Given the description of an element on the screen output the (x, y) to click on. 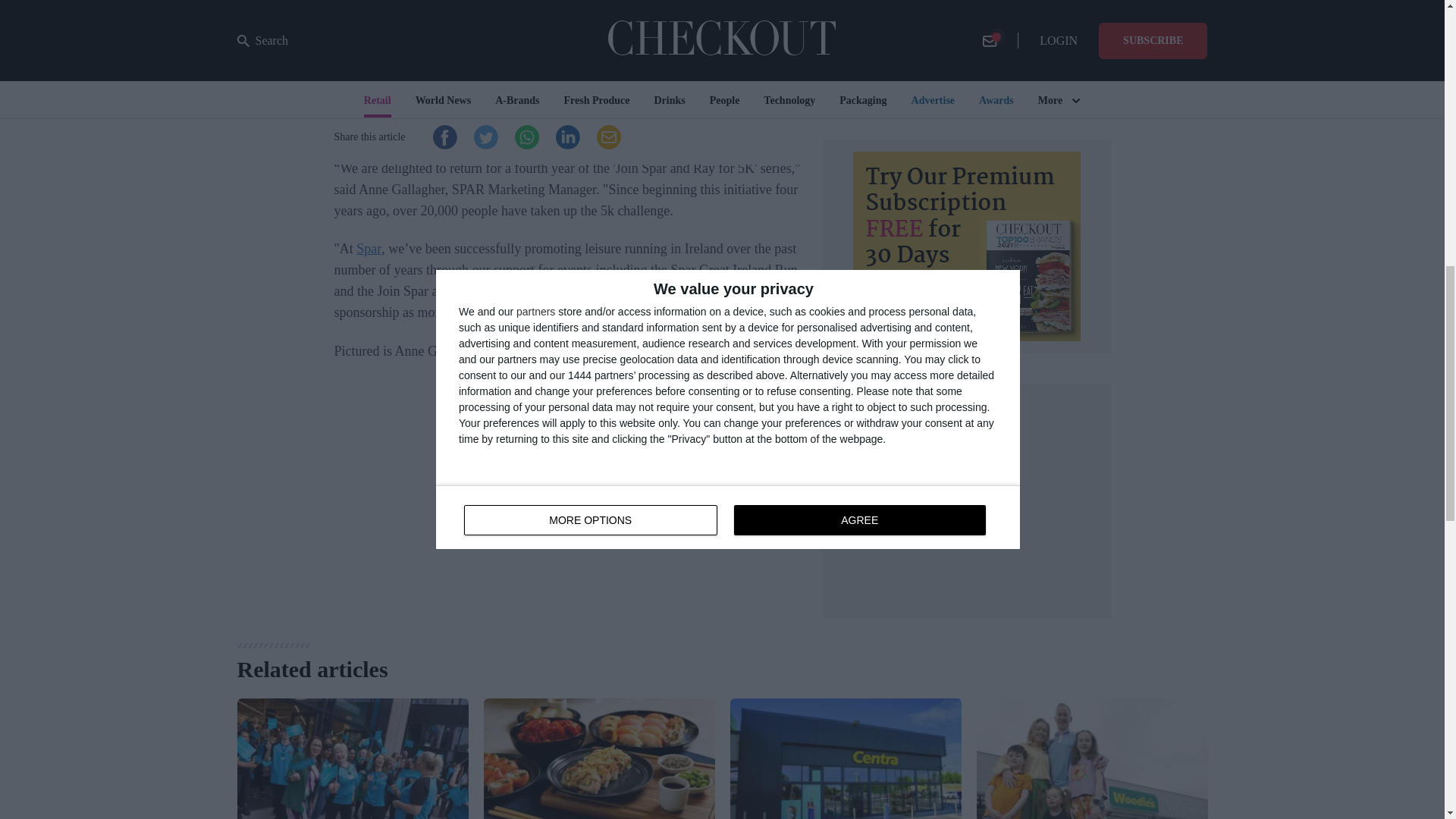
Spar (368, 248)
